Given the description of an element on the screen output the (x, y) to click on. 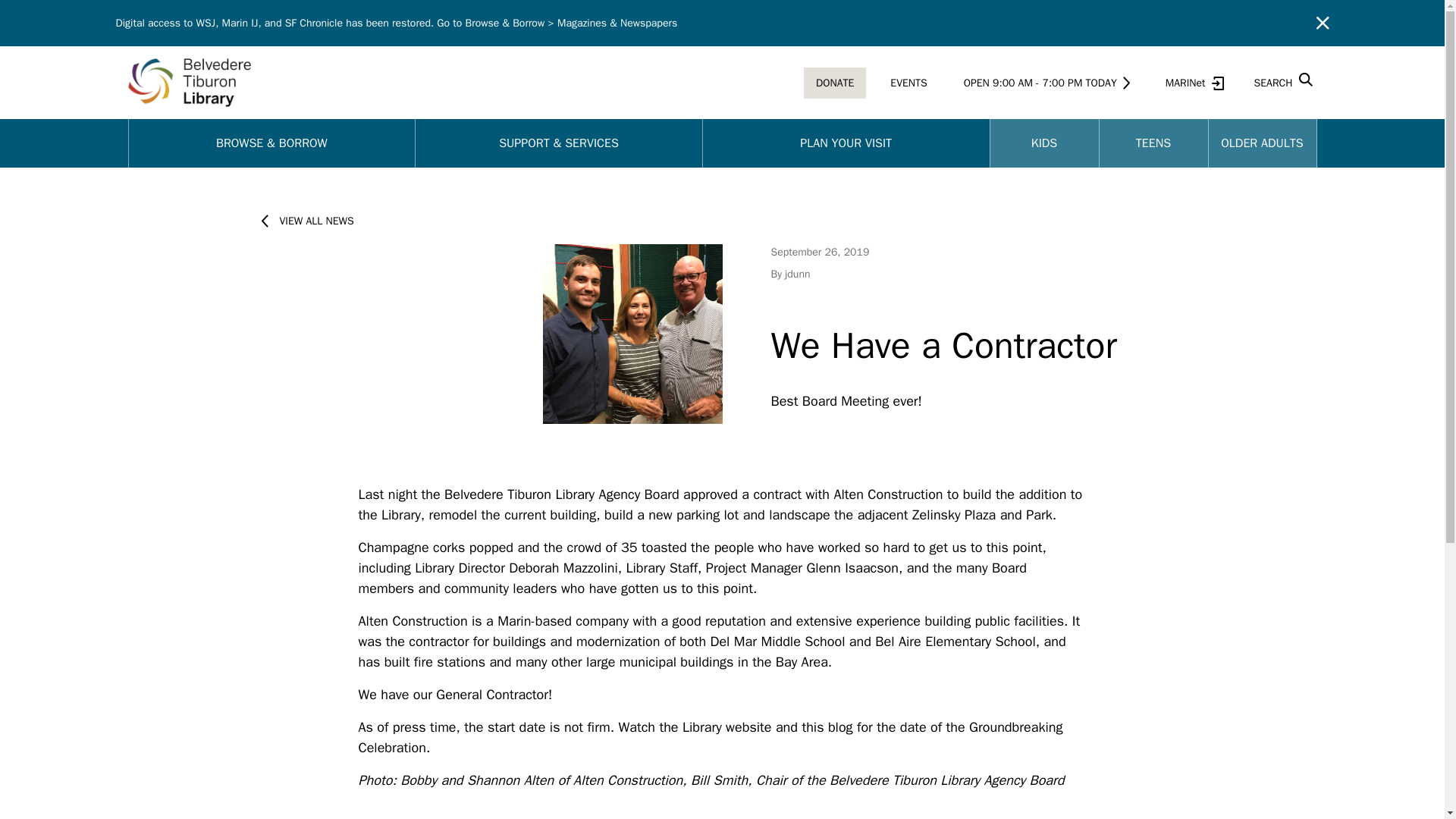
MARINet (1191, 81)
TEENS (1153, 142)
DONATE (834, 81)
Close Banner (1322, 22)
EVENTS (908, 81)
KIDS (1044, 142)
OPEN 9:00 AM - 7:00 PM TODAY (1046, 81)
PLAN YOUR VISIT (846, 142)
SEARCH (1279, 82)
